Given the description of an element on the screen output the (x, y) to click on. 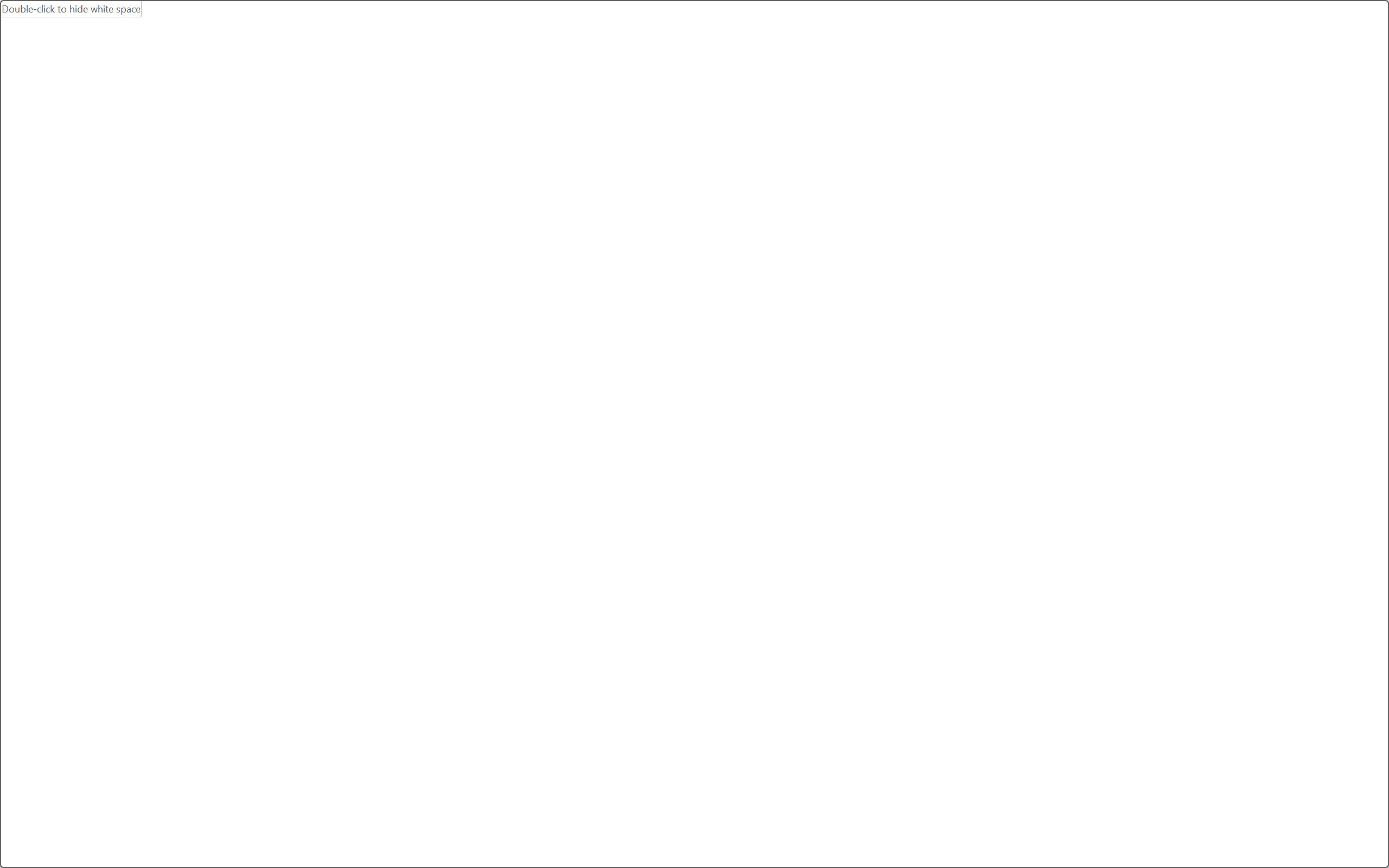
Justify (452, 108)
Decrease Indent (491, 82)
Row Down (978, 97)
cosmic radiation (639, 578)
Superscript (210, 108)
Action: Paste alternatives (706, 597)
Page 1 content (687, 521)
Increase Indent (512, 82)
continental (675, 480)
